Given the description of an element on the screen output the (x, y) to click on. 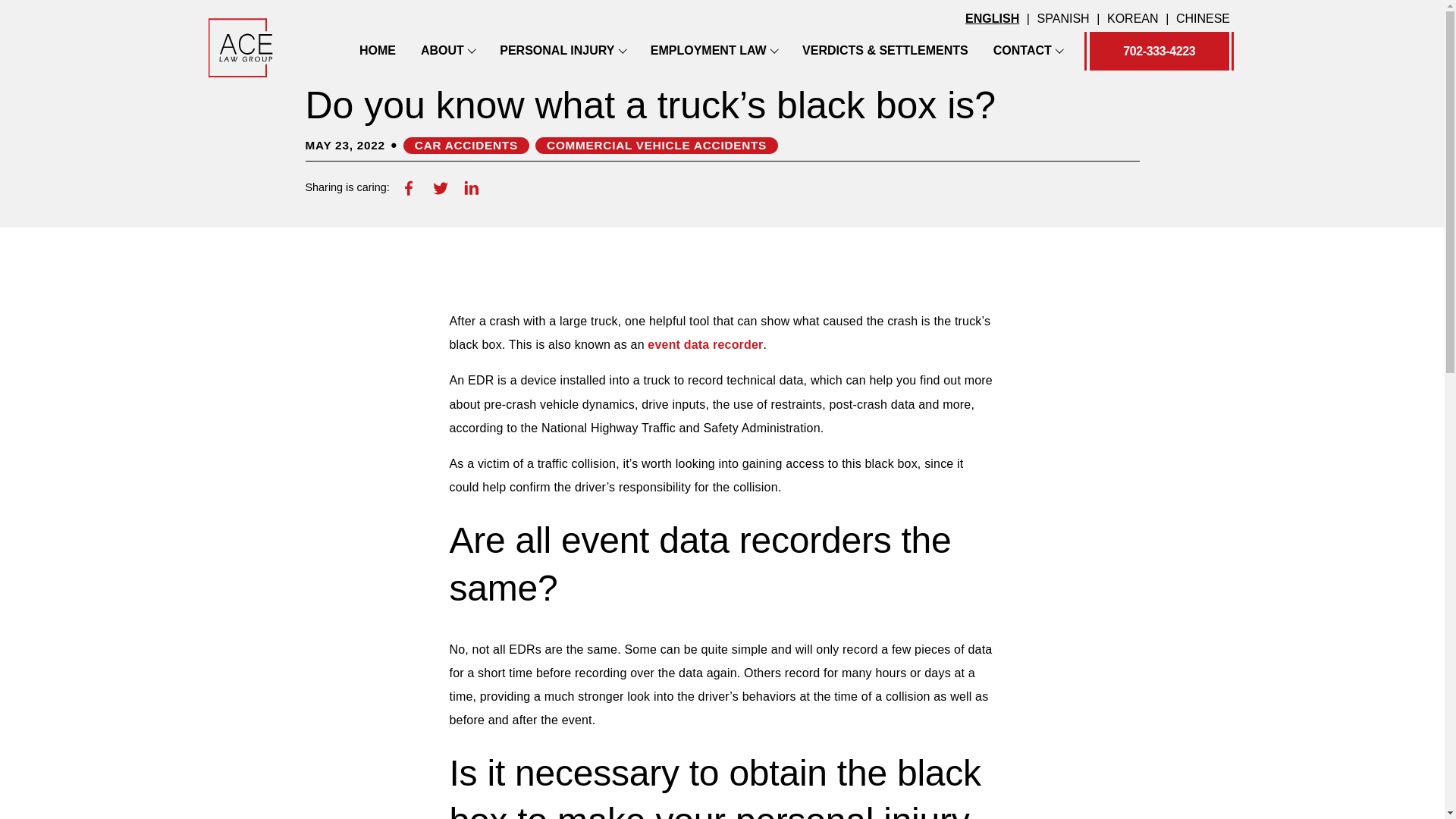
HOME (377, 50)
ABOUT (442, 50)
event data recorder (704, 344)
Share on LinkedIn (472, 187)
702-333-4223 (1158, 50)
SPANISH (1062, 19)
Share on Facebook (409, 187)
CAR ACCIDENTS (466, 144)
EMPLOYMENT LAW (708, 50)
Share on Twitter (440, 187)
CONTACT (1021, 50)
KOREAN (1132, 19)
CHINESE (1203, 19)
COMMERCIAL VEHICLE ACCIDENTS (656, 144)
PERSONAL INJURY (556, 50)
